Given the description of an element on the screen output the (x, y) to click on. 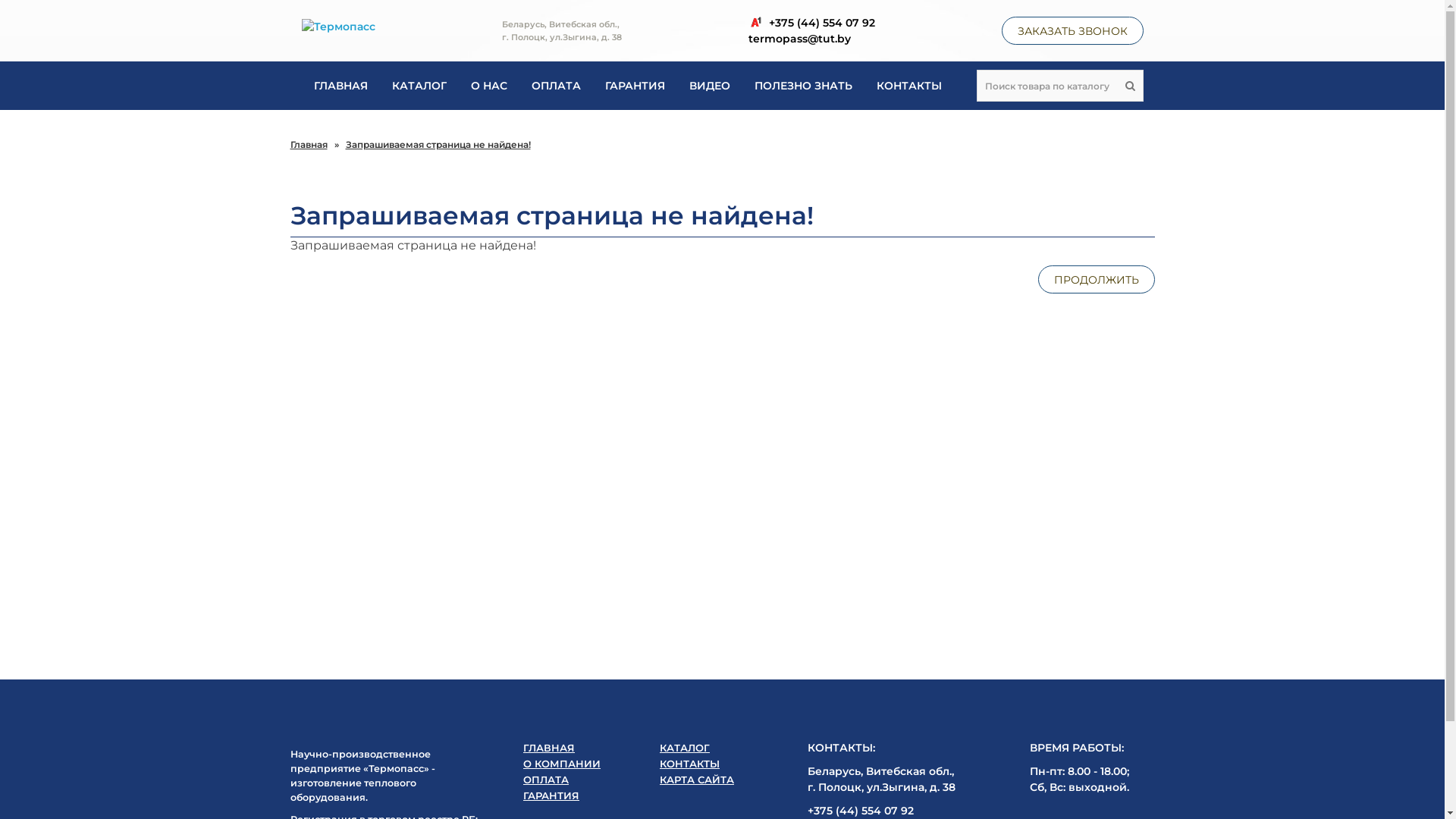
termopass@tut.by Element type: text (810, 38)
+375 (44) 554 07 92 Element type: text (860, 810)
+375 (44) 554 07 92 Element type: text (810, 23)
